Given the description of an element on the screen output the (x, y) to click on. 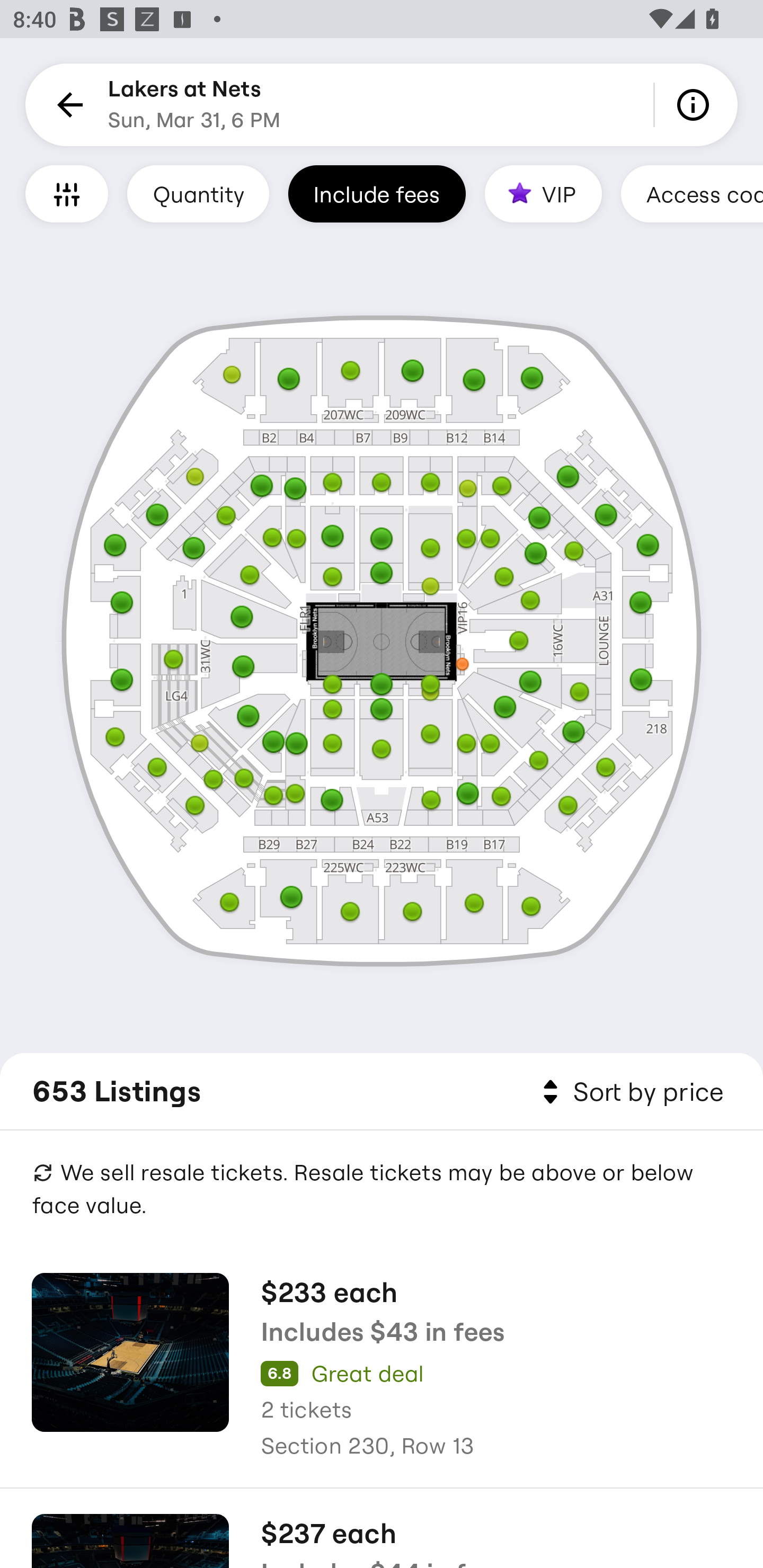
Back (66, 104)
Lakers at Nets Sun, Mar 31, 6 PM (194, 104)
Info (695, 104)
Filters and Accessible Seating (66, 193)
Quantity (198, 193)
Include fees (376, 193)
VIP (543, 193)
Access code (692, 193)
Sort by price (629, 1091)
